Given the description of an element on the screen output the (x, y) to click on. 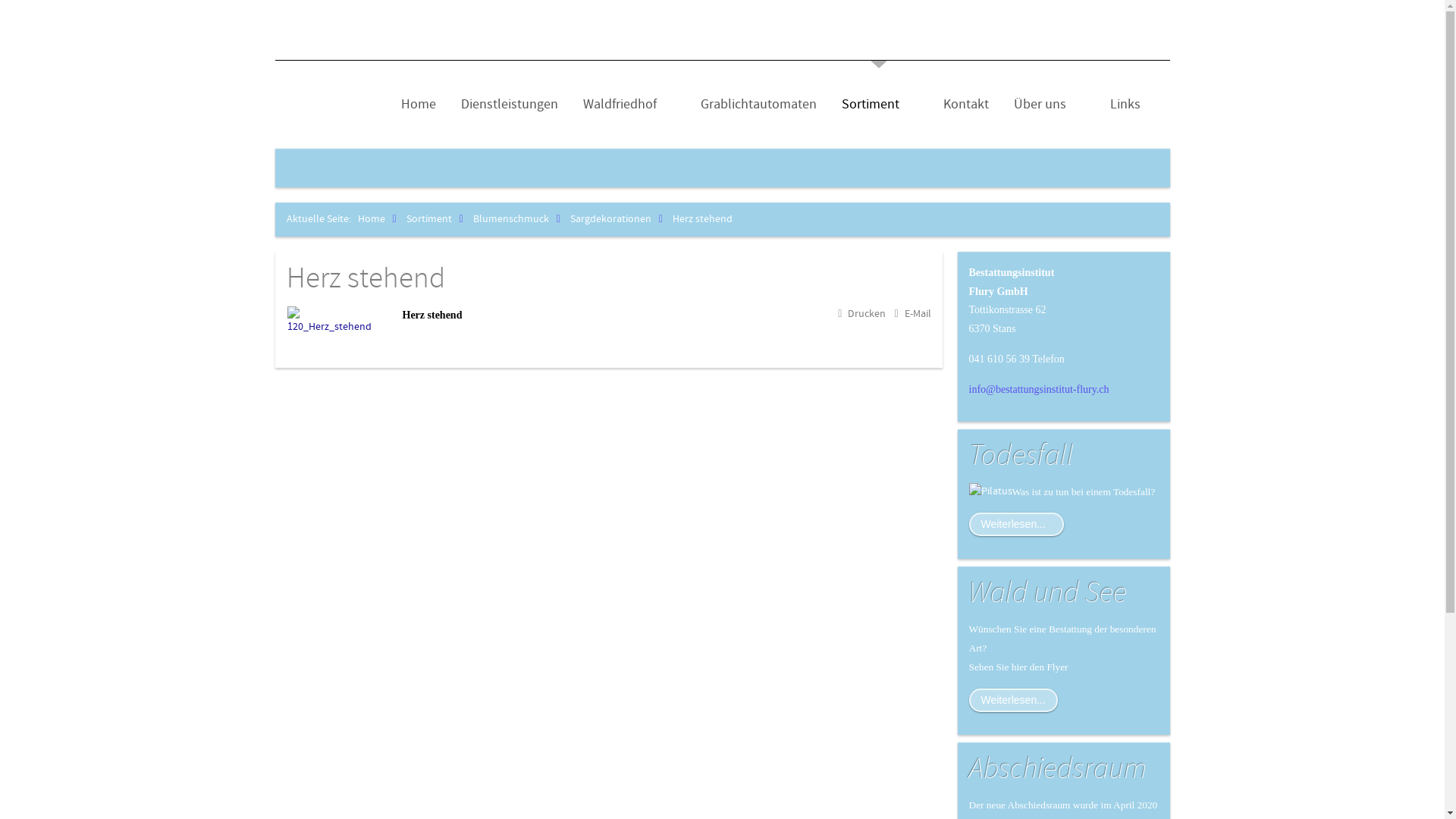
Blumenschmuck Element type: text (520, 219)
info@bestattungsinstitut-flury.ch Element type: text (1039, 388)
Weiterlesen... Element type: text (1013, 700)
Kontakt Element type: text (965, 104)
Home Element type: text (417, 104)
Home Element type: text (380, 219)
Dienstleistungen Element type: text (509, 104)
Drucken Element type: text (861, 313)
Herz stehend Element type: text (365, 278)
Links Element type: text (1125, 104)
Waldfriedhof Element type: text (628, 104)
Sortiment Element type: text (879, 104)
Sargdekorationen Element type: text (620, 219)
Weiterlesen...   Element type: text (1016, 524)
E-Mail Element type: text (912, 313)
Grablichtautomaten Element type: text (758, 104)
Sortiment Element type: text (438, 219)
